Given the description of an element on the screen output the (x, y) to click on. 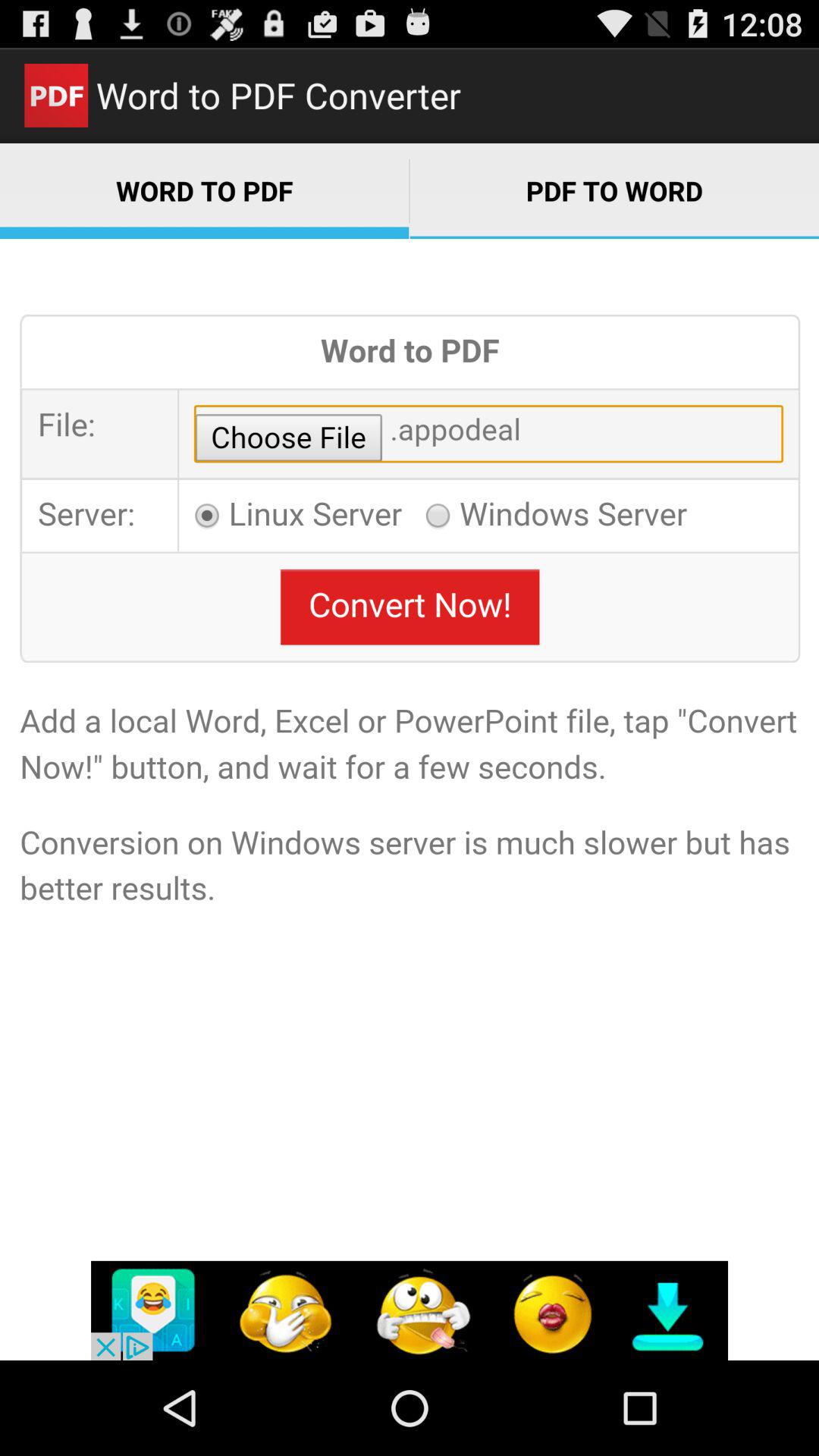
select emoji (409, 1310)
